Given the description of an element on the screen output the (x, y) to click on. 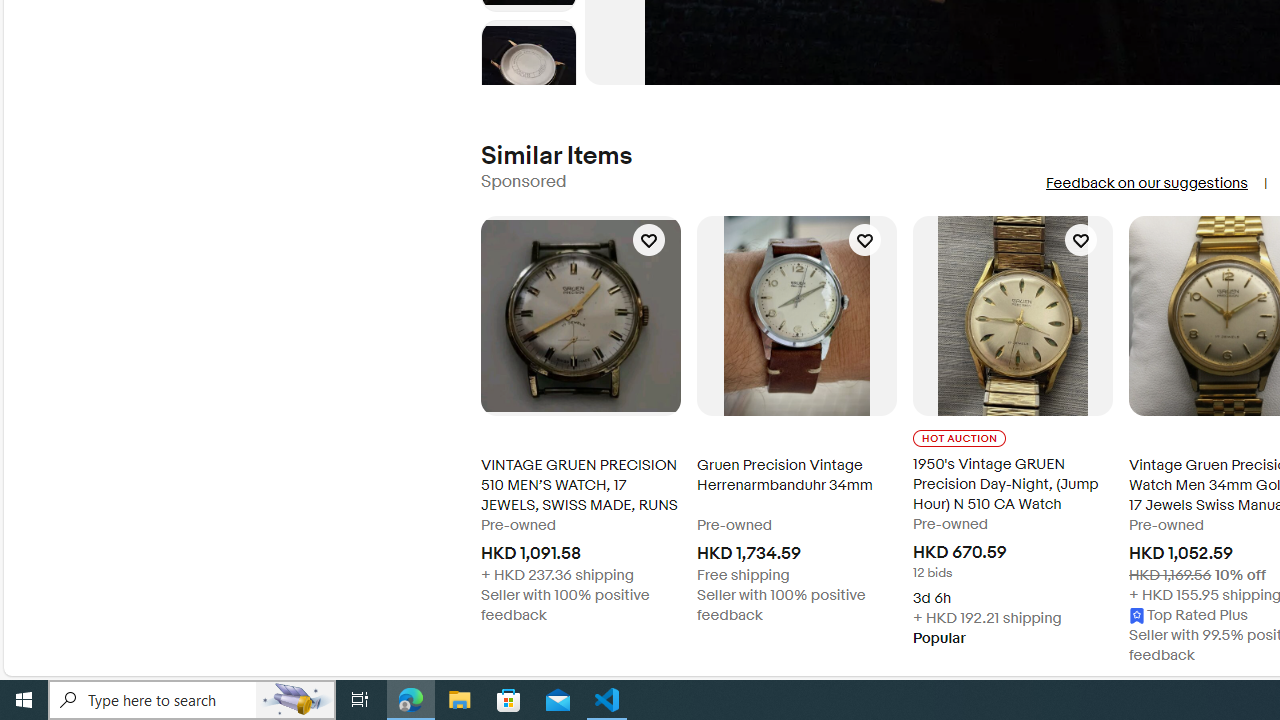
Feedback on our suggestions (1146, 183)
Next image - Item images thumbnails (528, 80)
Picture 6 of 8 (528, 67)
Picture 6 of 8 (528, 67)
